Given the description of an element on the screen output the (x, y) to click on. 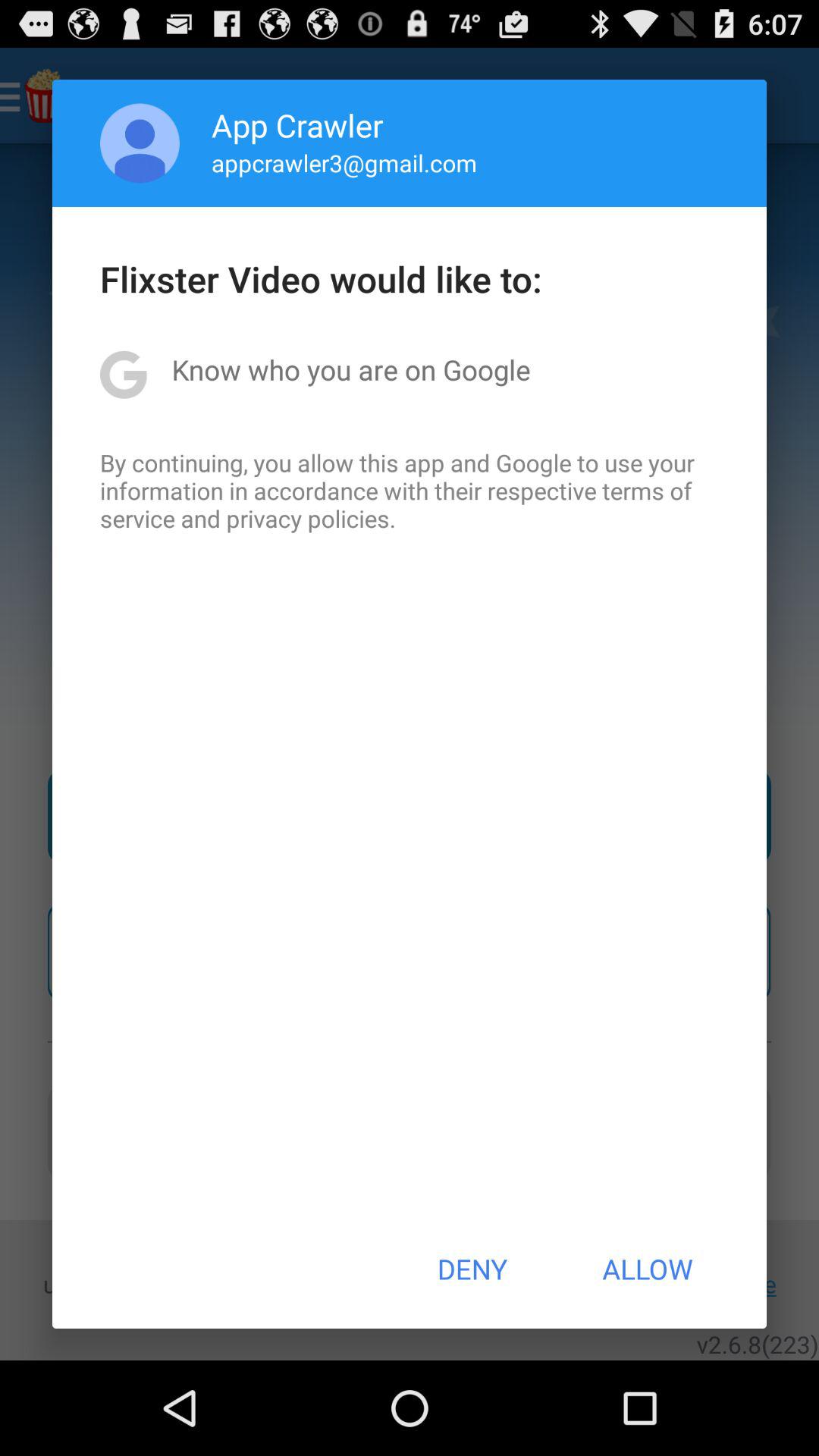
launch item below flixster video would item (350, 369)
